Given the description of an element on the screen output the (x, y) to click on. 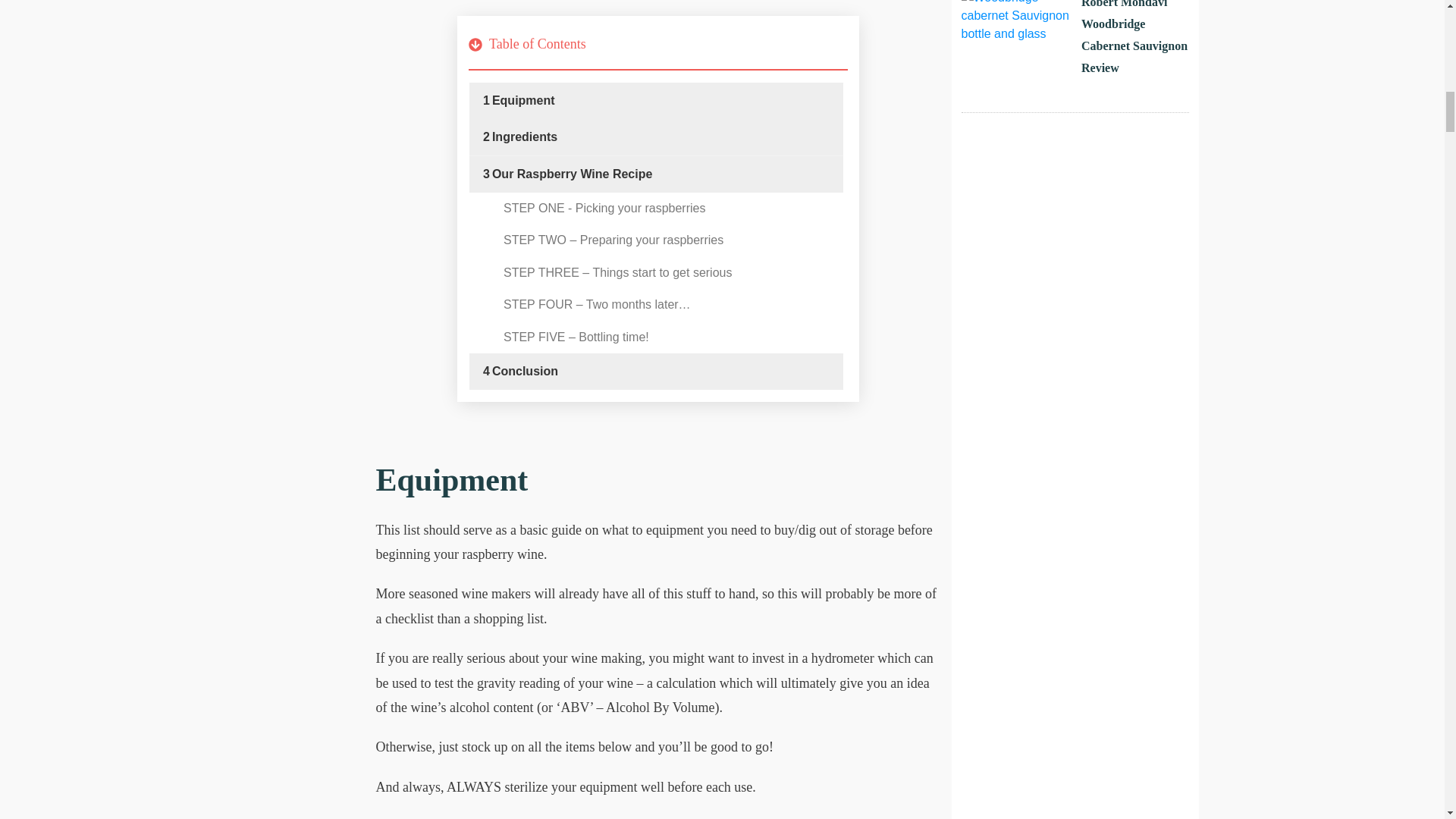
Conclusion (524, 371)
Equipment (523, 100)
STEP ONE - Picking your raspberries (603, 208)
Ingredients (524, 136)
Our Raspberry Wine Recipe (572, 174)
Equipment (523, 100)
Ingredients (524, 136)
STEP ONE - Picking your raspberries (603, 208)
Conclusion (524, 371)
Our Raspberry Wine Recipe (572, 174)
